Given the description of an element on the screen output the (x, y) to click on. 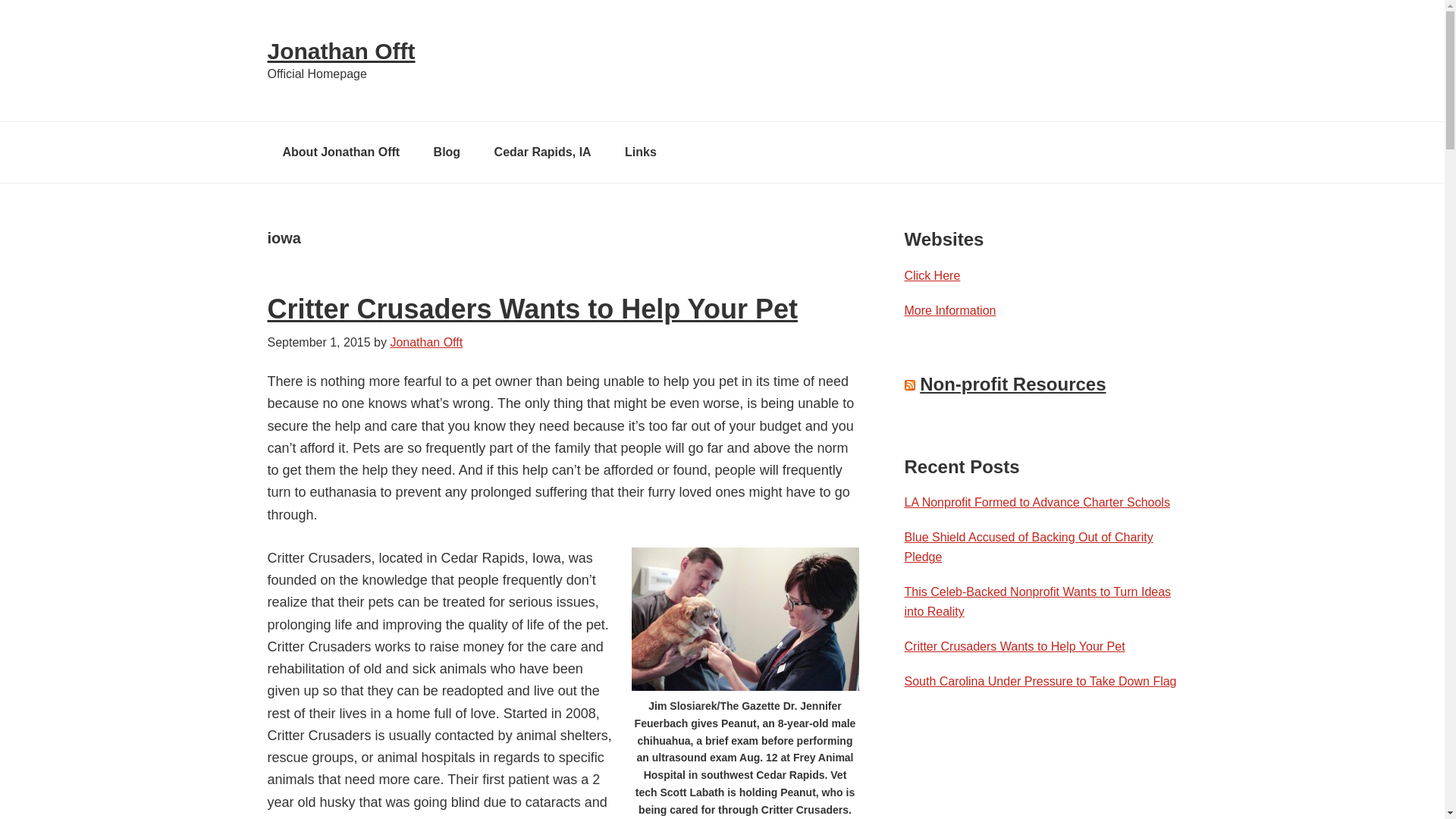
Links (640, 152)
Cedar Rapids, IA (543, 152)
Jonathan Offt (426, 341)
About Jonathan Offt (340, 152)
Blog (447, 152)
Critter Crusaders Wants to Help Your Pet (531, 308)
Jonathan Offt (340, 50)
